Given the description of an element on the screen output the (x, y) to click on. 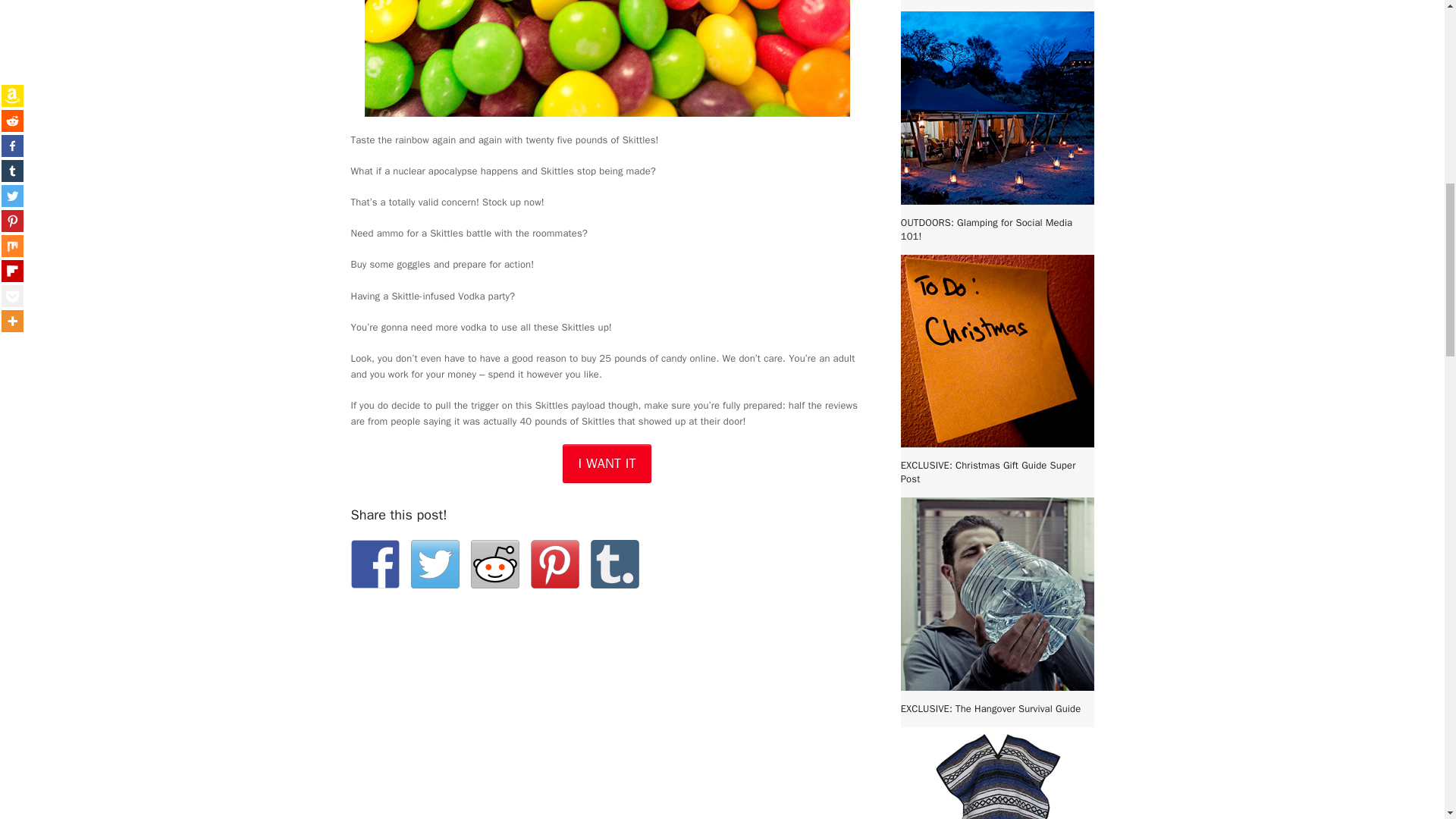
Pin it! (555, 563)
Visit Site (606, 463)
Submit! (494, 563)
Blog about it! (614, 563)
Share! (374, 563)
Tweet! (435, 563)
